Given the description of an element on the screen output the (x, y) to click on. 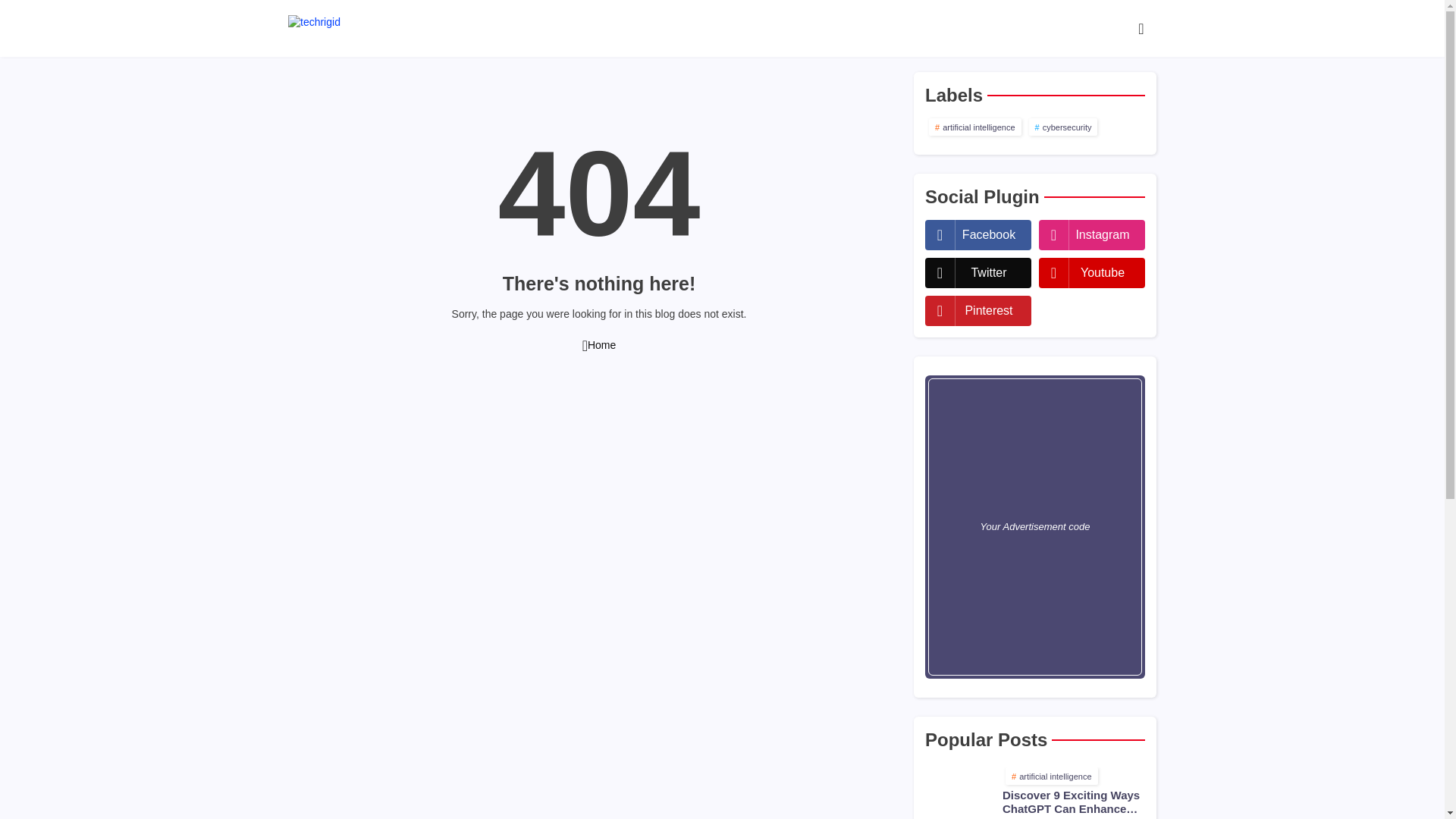
Facebook (977, 235)
Youtube (1091, 272)
Pinterest (977, 310)
pinterest (977, 310)
Twitter (977, 272)
twitter (977, 272)
facebook (977, 235)
Instagram (1091, 235)
cybersecurity (1063, 126)
